Given the description of an element on the screen output the (x, y) to click on. 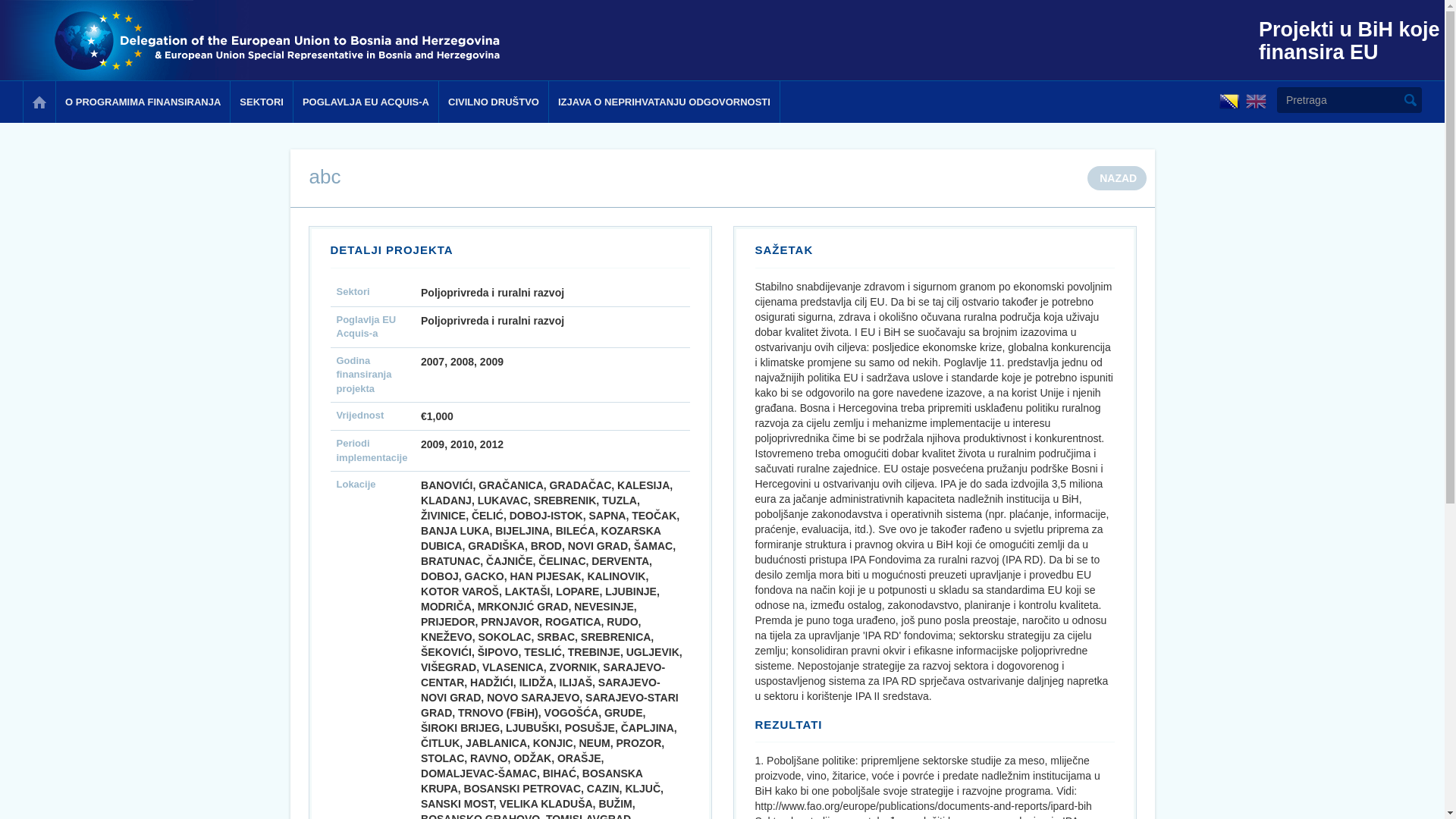
SEKTORI Element type: text (260, 101)
IZJAVA O NEPRIHVATANJU ODGOVORNOSTI Element type: text (664, 101)
POGLAVLJA EU ACQUIS-A Element type: text (365, 101)
O PROGRAMIMA FINANSIRANJA Element type: text (142, 101)
NAZAD Element type: text (1116, 178)
